Given the description of an element on the screen output the (x, y) to click on. 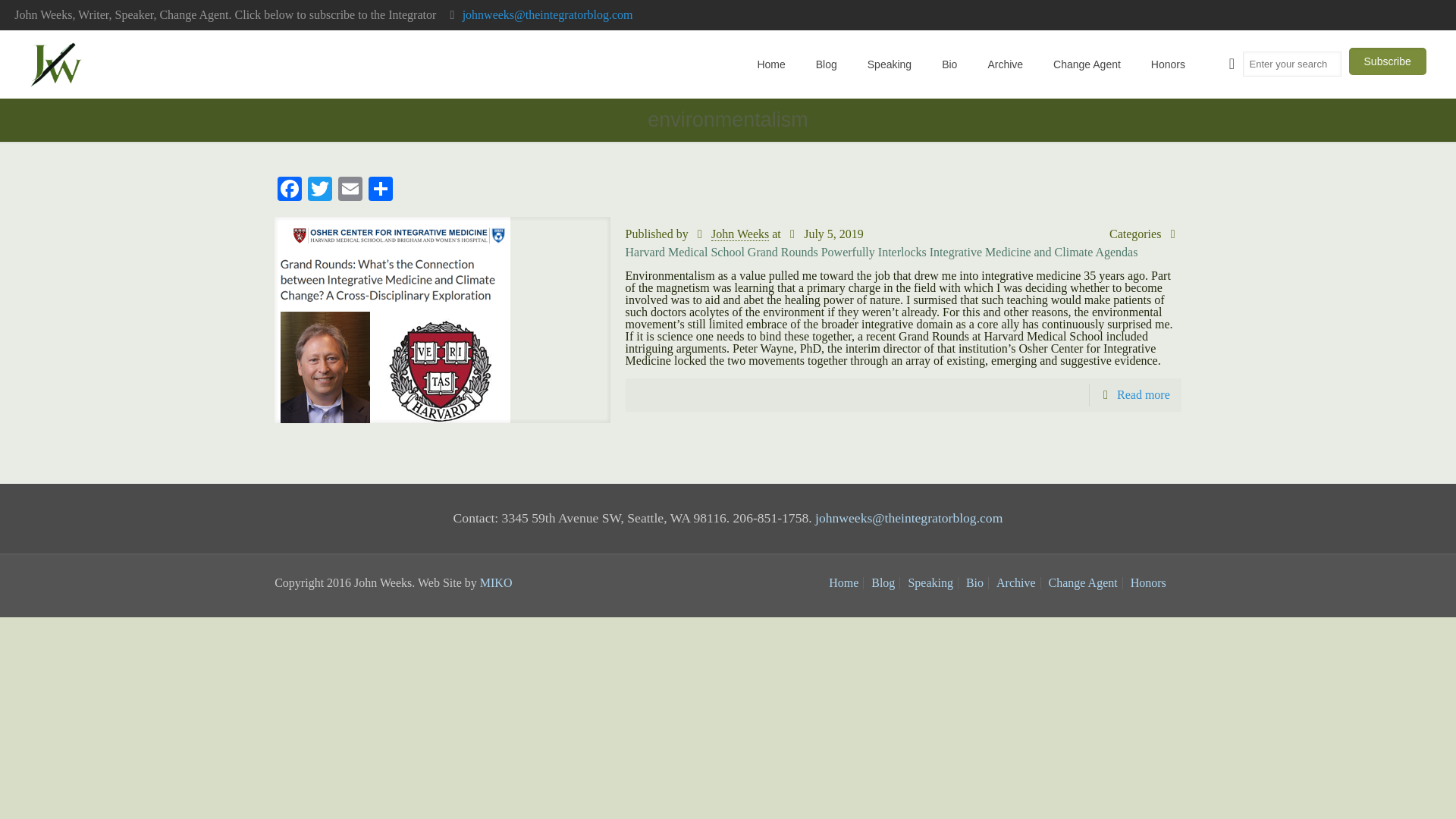
Read more (1143, 394)
Blog (825, 64)
Blog (882, 582)
John Weeks (739, 233)
Change Agent (1083, 582)
Bio (975, 582)
Archive (1005, 64)
Speaking (930, 582)
Honors (1148, 582)
Twitter (319, 190)
John Weeks, Integrator (55, 64)
Email (349, 190)
Home (843, 582)
Bio (949, 64)
Subscribe (1387, 61)
